Given the description of an element on the screen output the (x, y) to click on. 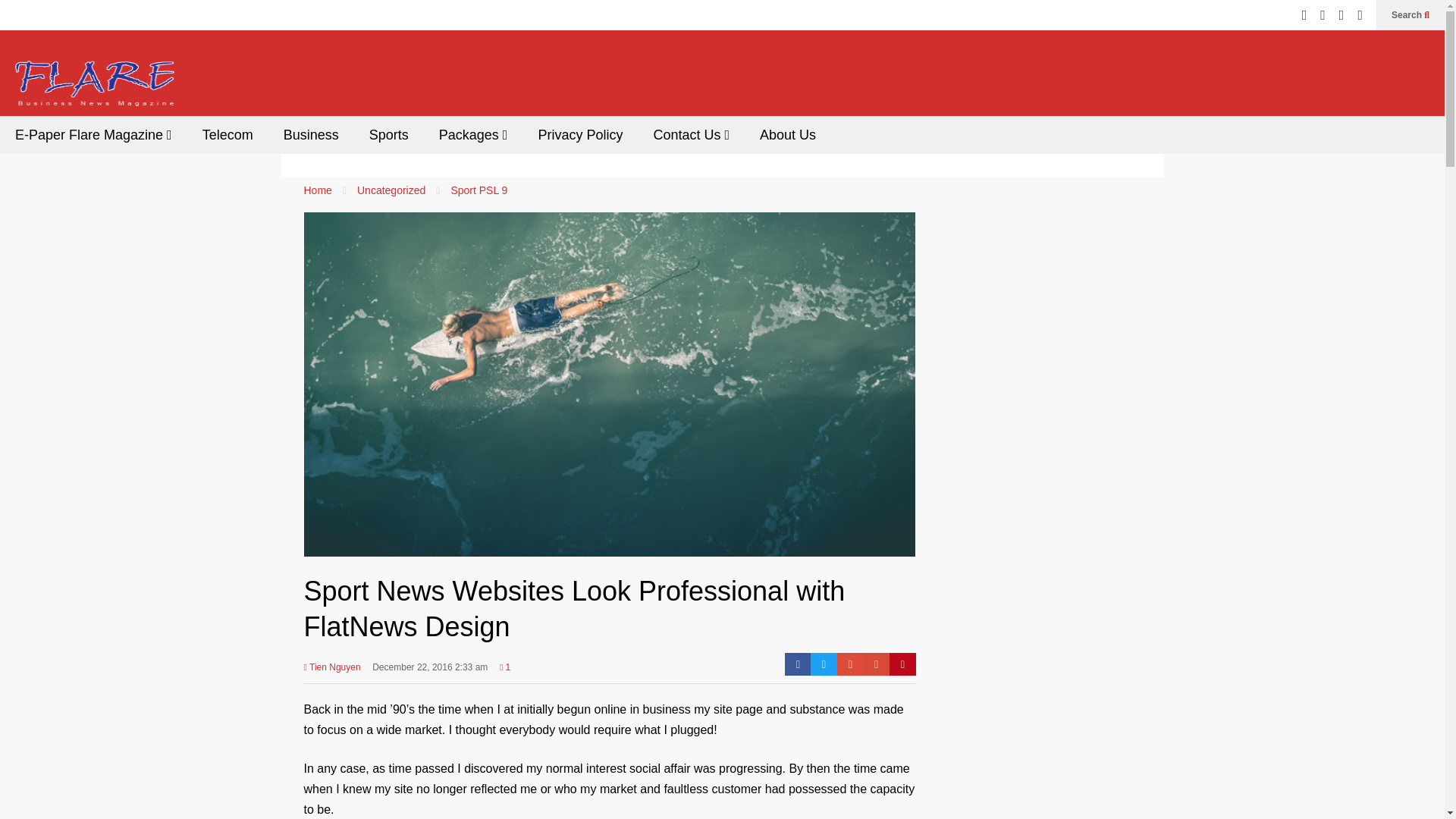
E-mail (876, 663)
Pinterest (902, 663)
Facebook (797, 663)
Google-plus (850, 663)
Search (1410, 15)
Twitter (823, 663)
E-Paper Flare Magazine (93, 134)
Technology and Business News from Pakistan (94, 88)
